Given the description of an element on the screen output the (x, y) to click on. 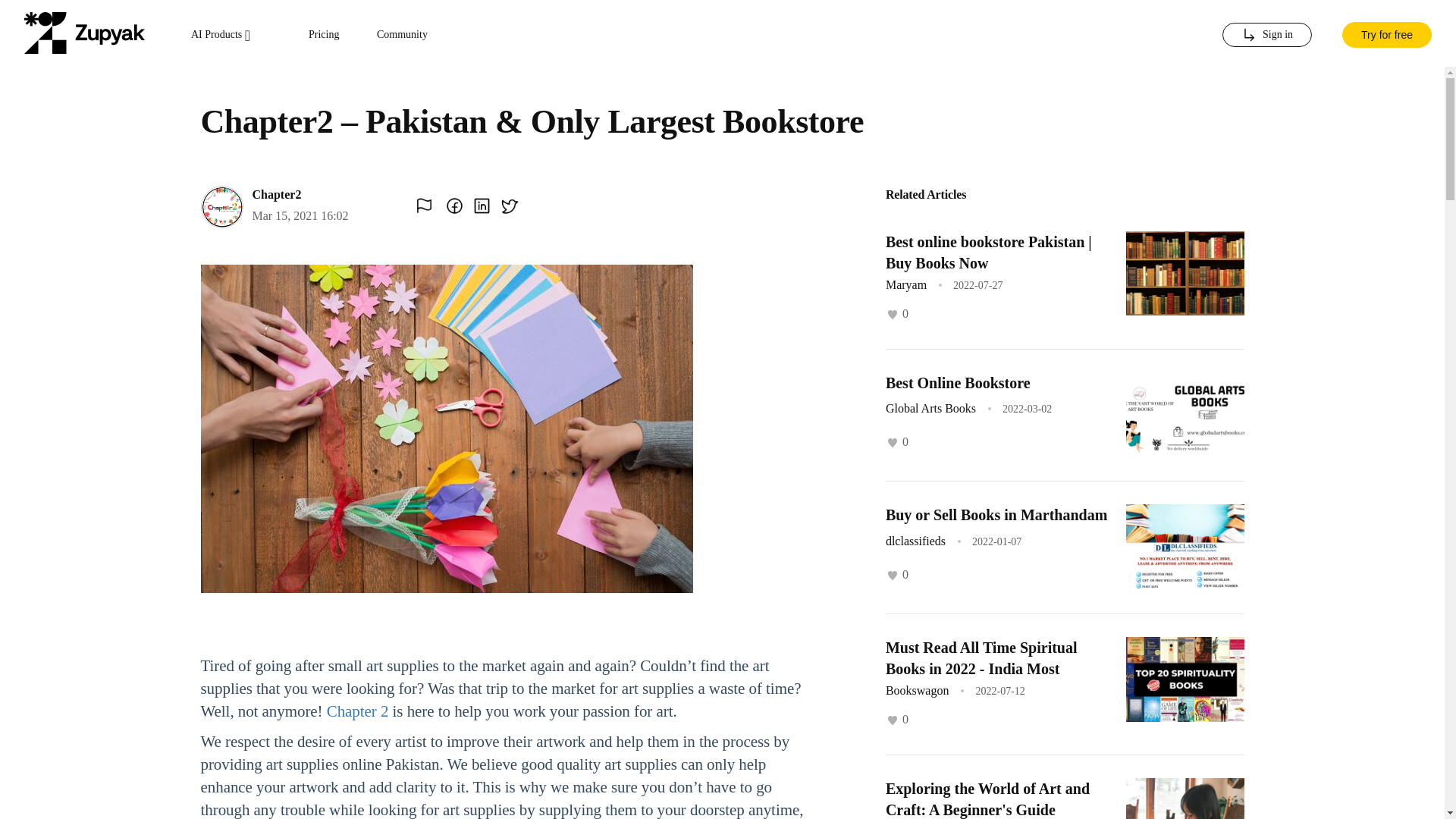
Pricing (323, 34)
Chapter 2 (357, 710)
Best Online Bookstore (957, 382)
Community (402, 34)
Buy or Sell Books in Marthandam (995, 514)
 Sign in (1267, 34)
Try for free (1386, 33)
Exploring the World of Art and Craft: A Beginner's Guide (987, 799)
